Given the description of an element on the screen output the (x, y) to click on. 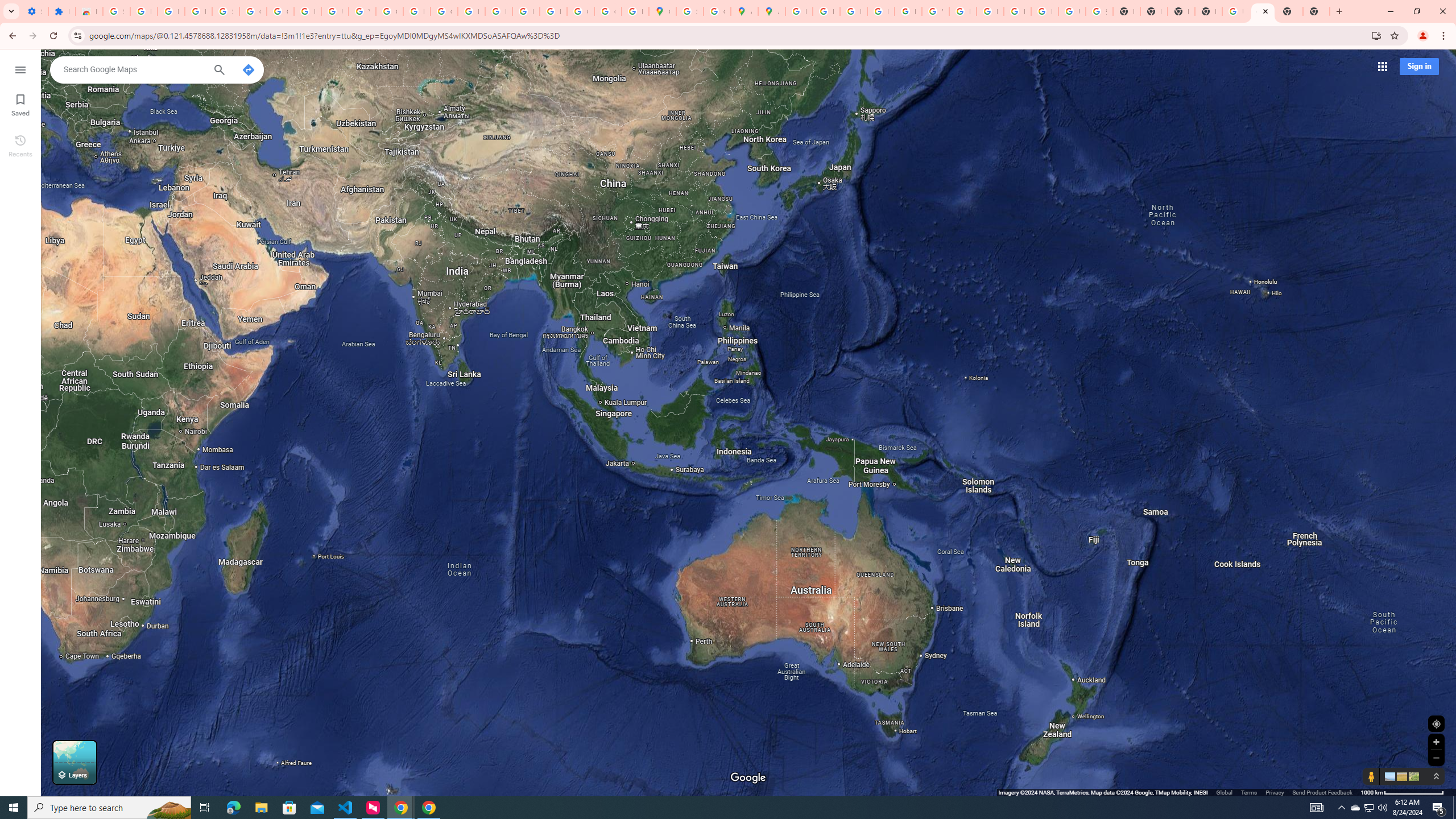
Layers (74, 762)
Menu (20, 68)
Google Maps (1262, 11)
Google Account Help (253, 11)
Forward (32, 35)
Show Street View coverage (1371, 776)
Sign in - Google Accounts (116, 11)
Delete photos & videos - Computer - Google Photos Help (144, 11)
Show Your Location (1436, 723)
Chrome (1445, 35)
Global (1224, 792)
